Given the description of an element on the screen output the (x, y) to click on. 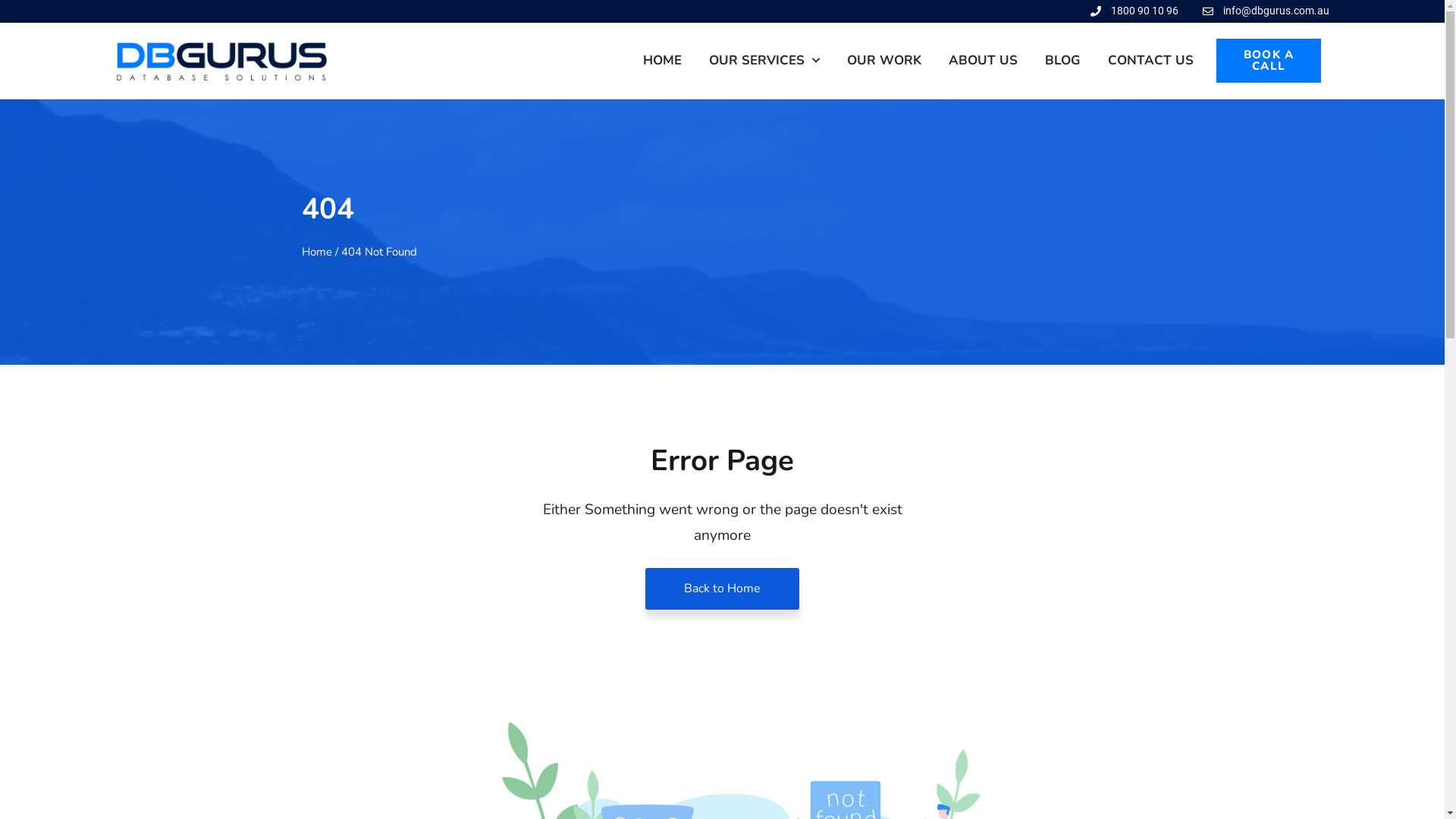
1800 90 10 96 Element type: text (1133, 10)
OUR SERVICES Element type: text (764, 60)
BLOG Element type: text (1062, 60)
CONTACT US Element type: text (1150, 60)
ABOUT US Element type: text (982, 60)
BOOK A CALL Element type: text (1268, 60)
Home Element type: text (316, 251)
Back to Home Element type: text (722, 588)
info@dbgurus.com.au Element type: text (1264, 10)
HOME Element type: text (662, 60)
OUR WORK Element type: text (884, 60)
